Given the description of an element on the screen output the (x, y) to click on. 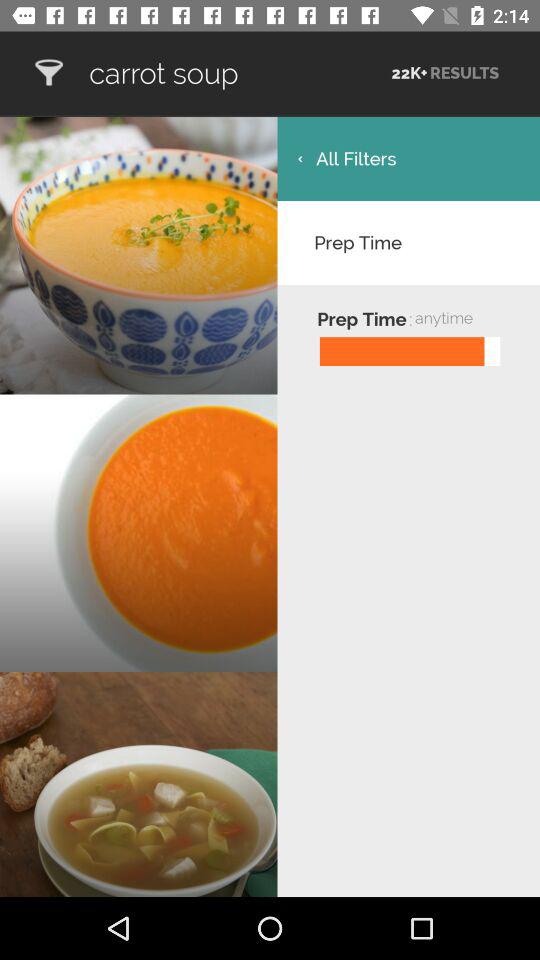
apply filter (48, 72)
